Given the description of an element on the screen output the (x, y) to click on. 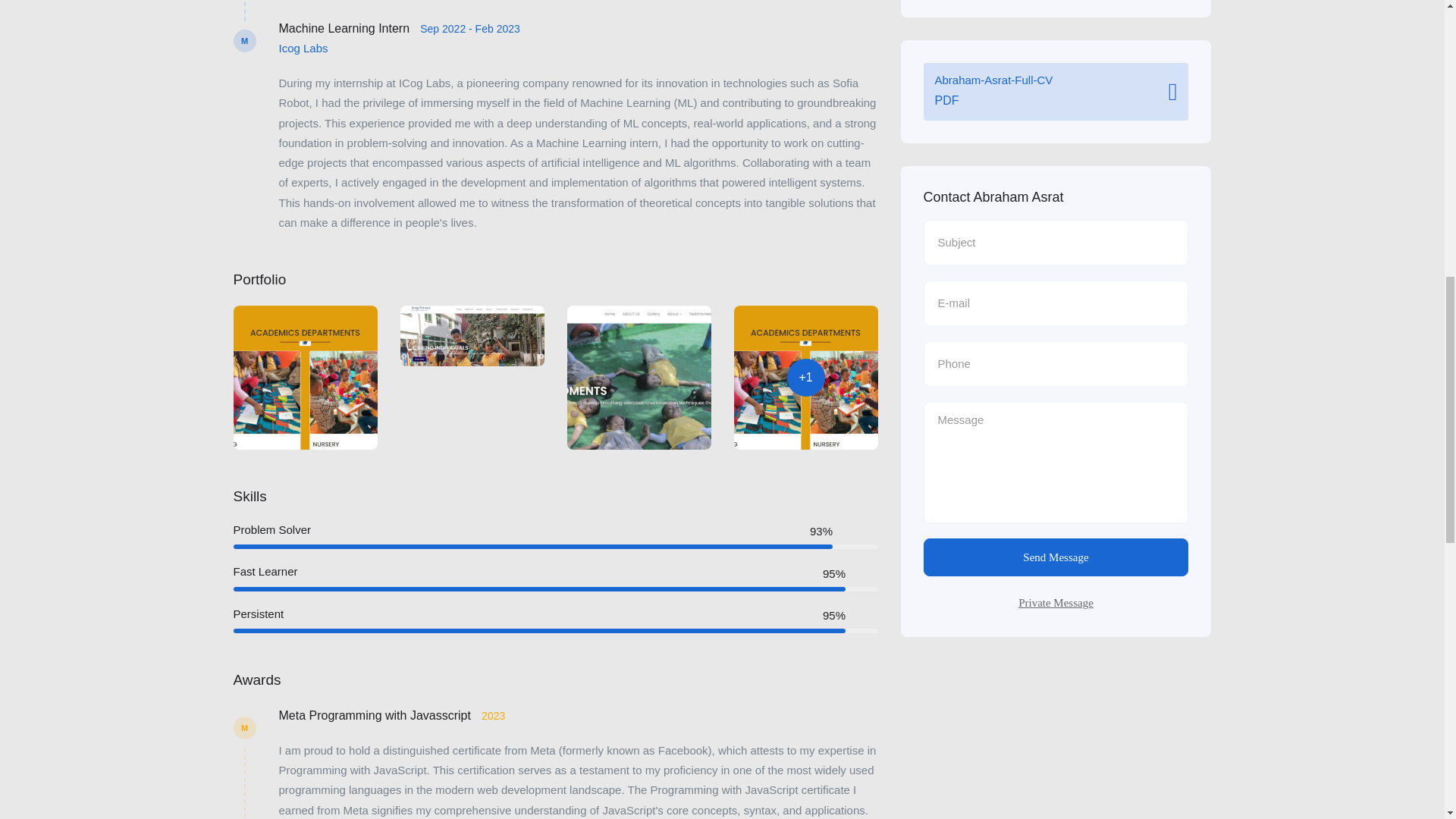
Send Message (1056, 91)
Private Message (1056, 557)
